Given the description of an element on the screen output the (x, y) to click on. 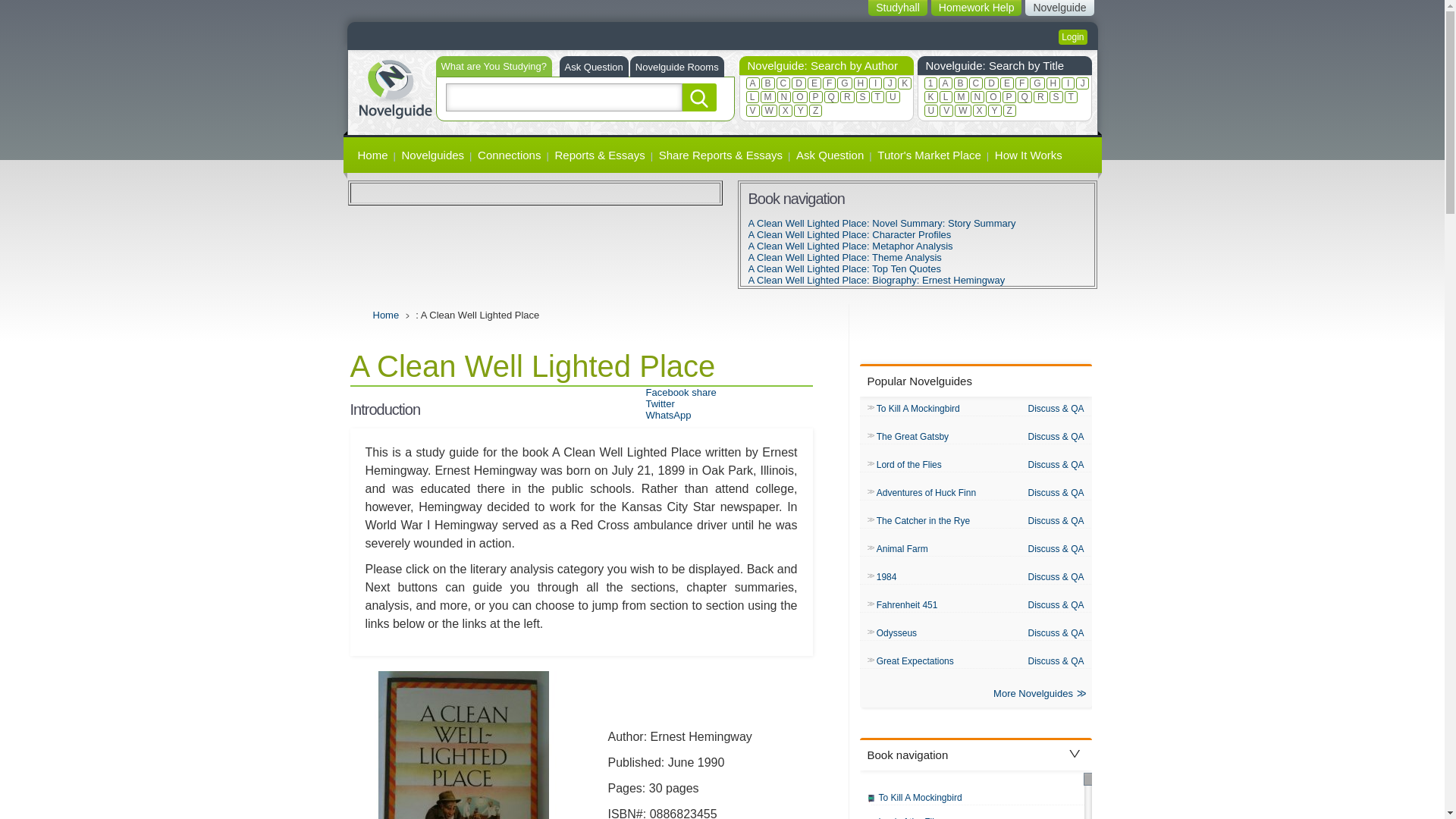
Login to get help or to help others (1072, 37)
Login (1072, 37)
Studyhall (897, 7)
Homework Help (976, 7)
Search (699, 97)
How It Works (1028, 154)
Enter the terms you wish to search for. (563, 97)
Home (394, 87)
Novelguides (433, 154)
Novelguide Homework Rooms (676, 66)
Novelguide (1059, 7)
